Given the description of an element on the screen output the (x, y) to click on. 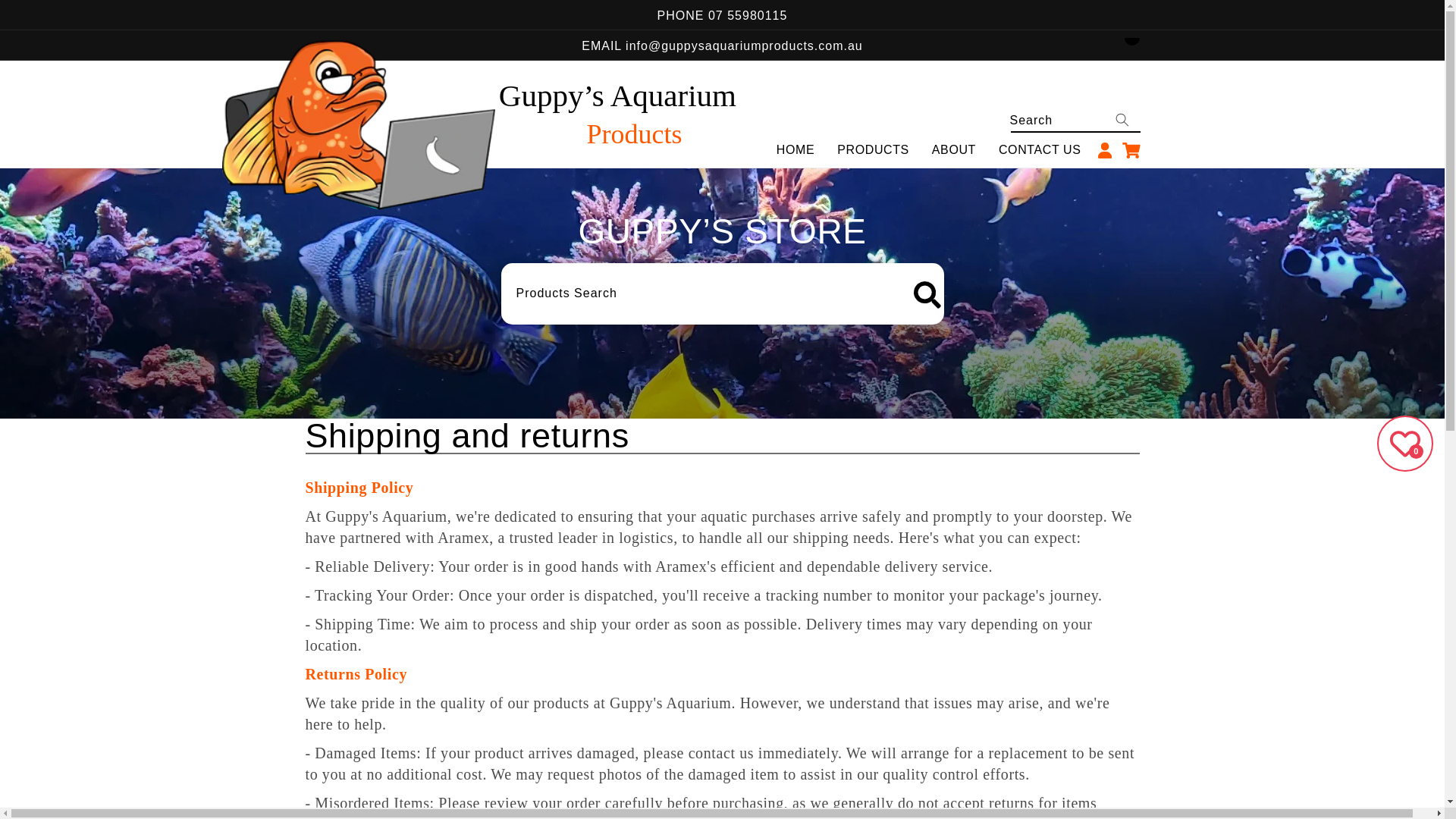
CONTACT US (1040, 150)
Products (633, 133)
About (953, 150)
Contact Us (1040, 150)
PRODUCTS (872, 150)
Home (795, 150)
HOME (795, 150)
ABOUT (953, 150)
Products (872, 150)
Skip to content (45, 30)
